Given the description of an element on the screen output the (x, y) to click on. 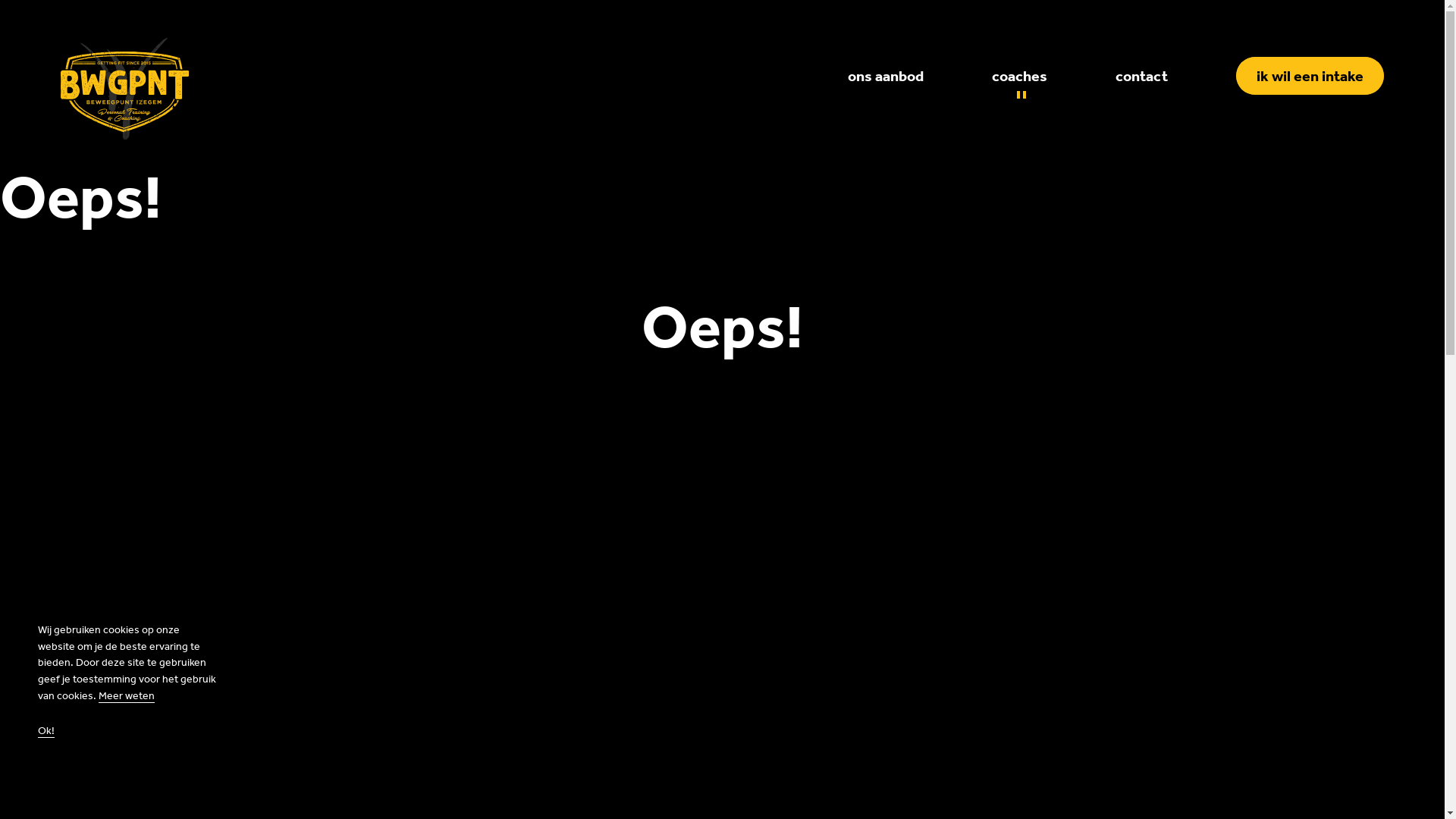
coaches Element type: text (1019, 75)
Overslaan en naar de inhoud gaan Element type: text (0, 0)
Meer weten Element type: text (126, 695)
ik wil een intake Element type: text (1309, 75)
Ok! Element type: text (45, 730)
ons aanbod Element type: text (885, 75)
contact Element type: text (1141, 75)
